Given the description of an element on the screen output the (x, y) to click on. 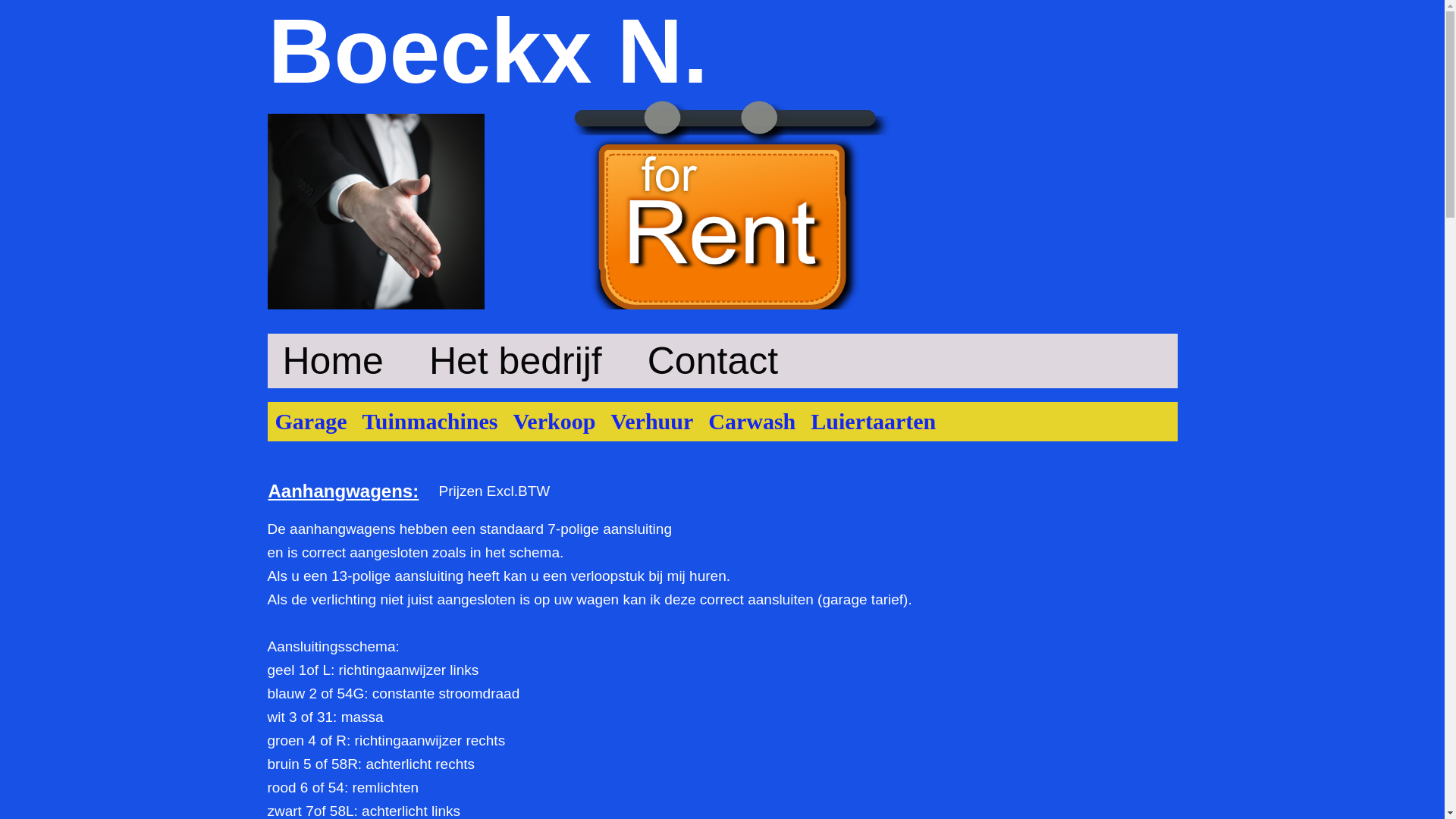
Het bedrijf Element type: text (515, 360)
Home Element type: text (332, 360)
Luiertaarten Element type: text (873, 421)
Verhuur Element type: text (651, 421)
Verkoop Element type: text (553, 421)
Tuinmachines Element type: text (429, 421)
Carwash Element type: text (751, 421)
Garage Element type: text (310, 421)
Contact Element type: text (712, 360)
